Given the description of an element on the screen output the (x, y) to click on. 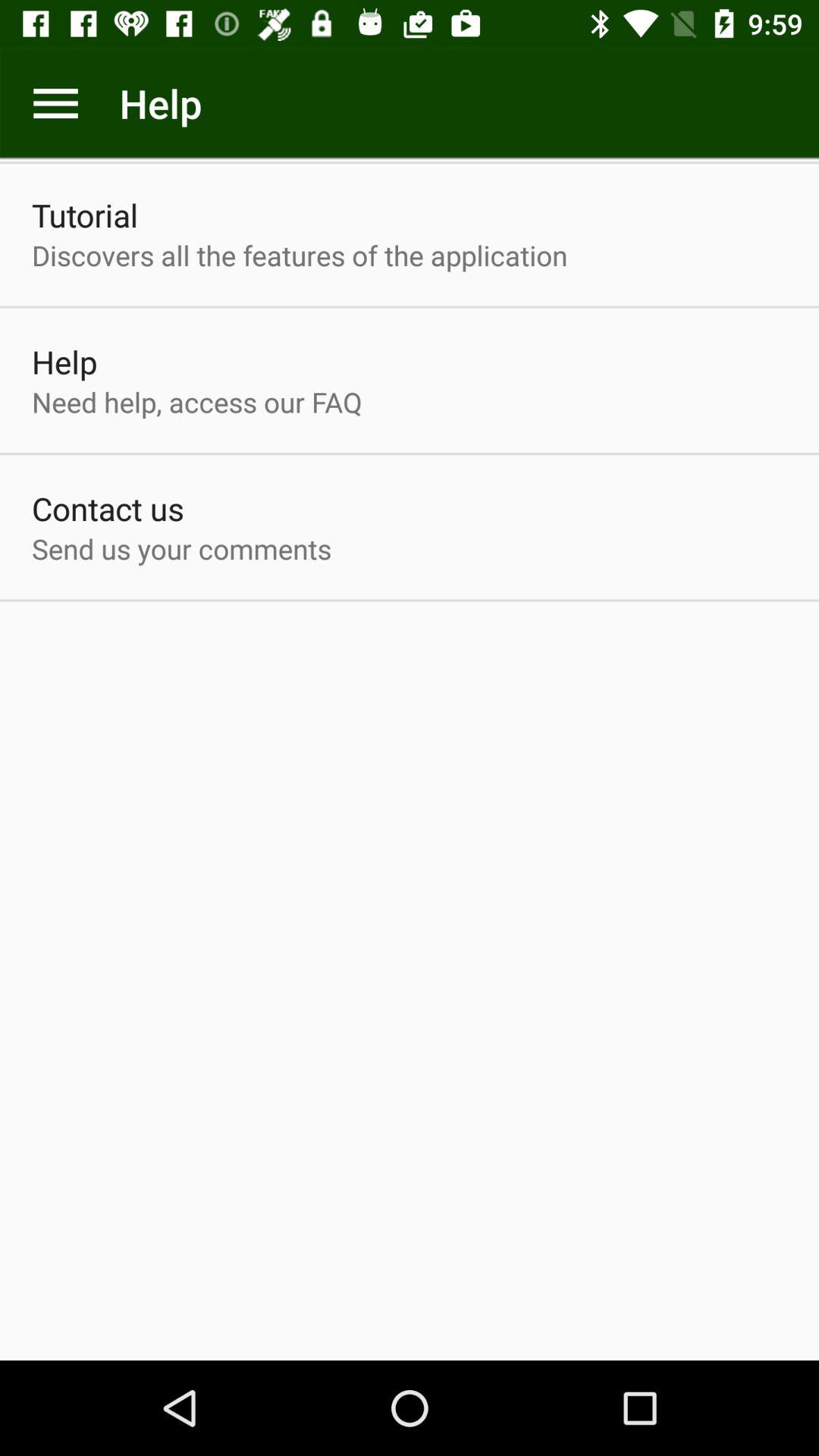
more option (55, 103)
